Given the description of an element on the screen output the (x, y) to click on. 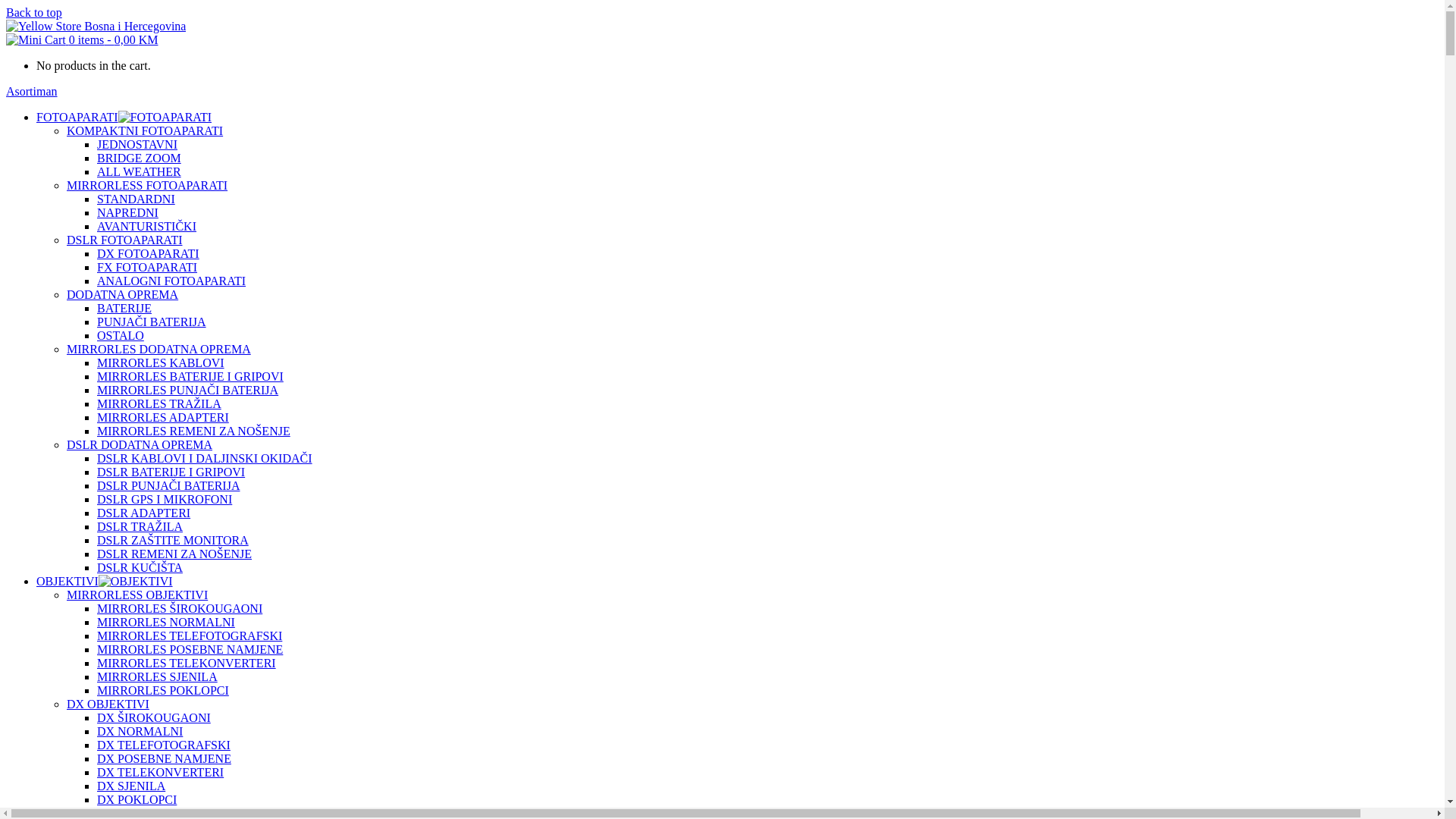
DX OBJEKTIVI Element type: text (107, 703)
0 items - 0,00 KM Element type: text (81, 39)
Back to top Element type: text (34, 12)
MIRRORLES ADAPTERI Element type: text (163, 417)
DSLR BATERIJE I GRIPOVI Element type: text (170, 471)
DX FOTOAPARATI Element type: text (148, 253)
ALL WEATHER Element type: text (139, 171)
MIRRORLES POKLOPCI Element type: text (163, 690)
MIRRORLES POSEBNE NAMJENE Element type: text (189, 649)
MIRRORLES TELEKONVERTERI Element type: text (186, 662)
DX NORMALNI Element type: text (139, 730)
MIRRORLESS OBJEKTIVI Element type: text (136, 594)
DX POSEBNE NAMJENE Element type: text (164, 758)
DSLR DODATNA OPREMA Element type: text (139, 444)
JEDNOSTAVNI Element type: text (137, 144)
DX SJENILA Element type: text (131, 785)
MIRRORLES BATERIJE I GRIPOVI Element type: text (190, 376)
DX POKLOPCI Element type: text (136, 799)
DSLR FOTOAPARATI Element type: text (124, 239)
ANALOGNI FOTOAPARATI Element type: text (171, 280)
DX TELEFOTOGRAFSKI Element type: text (163, 744)
FX FOTOAPARATI Element type: text (147, 266)
DSLR ADAPTERI Element type: text (143, 512)
DSLR GPS I MIKROFONI Element type: text (164, 498)
BATERIJE Element type: text (124, 307)
Asortiman Element type: text (31, 90)
MIRRORLES KABLOVI Element type: text (160, 362)
DX TELEKONVERTERI Element type: text (160, 771)
FOTOAPARATI Element type: text (77, 116)
MIRRORLESS FOTOAPARATI Element type: text (146, 184)
MIRRORLES NORMALNI Element type: text (166, 621)
DODATNA OPREMA Element type: text (122, 294)
MIRRORLES TELEFOTOGRAFSKI Element type: text (189, 635)
OSTALO Element type: text (120, 335)
BRIDGE ZOOM Element type: text (139, 157)
STANDARDNI Element type: text (136, 198)
NAPREDNI Element type: text (127, 212)
MIRRORLES DODATNA OPREMA Element type: text (158, 348)
OBJEKTIVI Element type: text (67, 580)
KOMPAKTNI FOTOAPARATI Element type: text (144, 130)
MIRRORLES SJENILA Element type: text (157, 676)
